Given the description of an element on the screen output the (x, y) to click on. 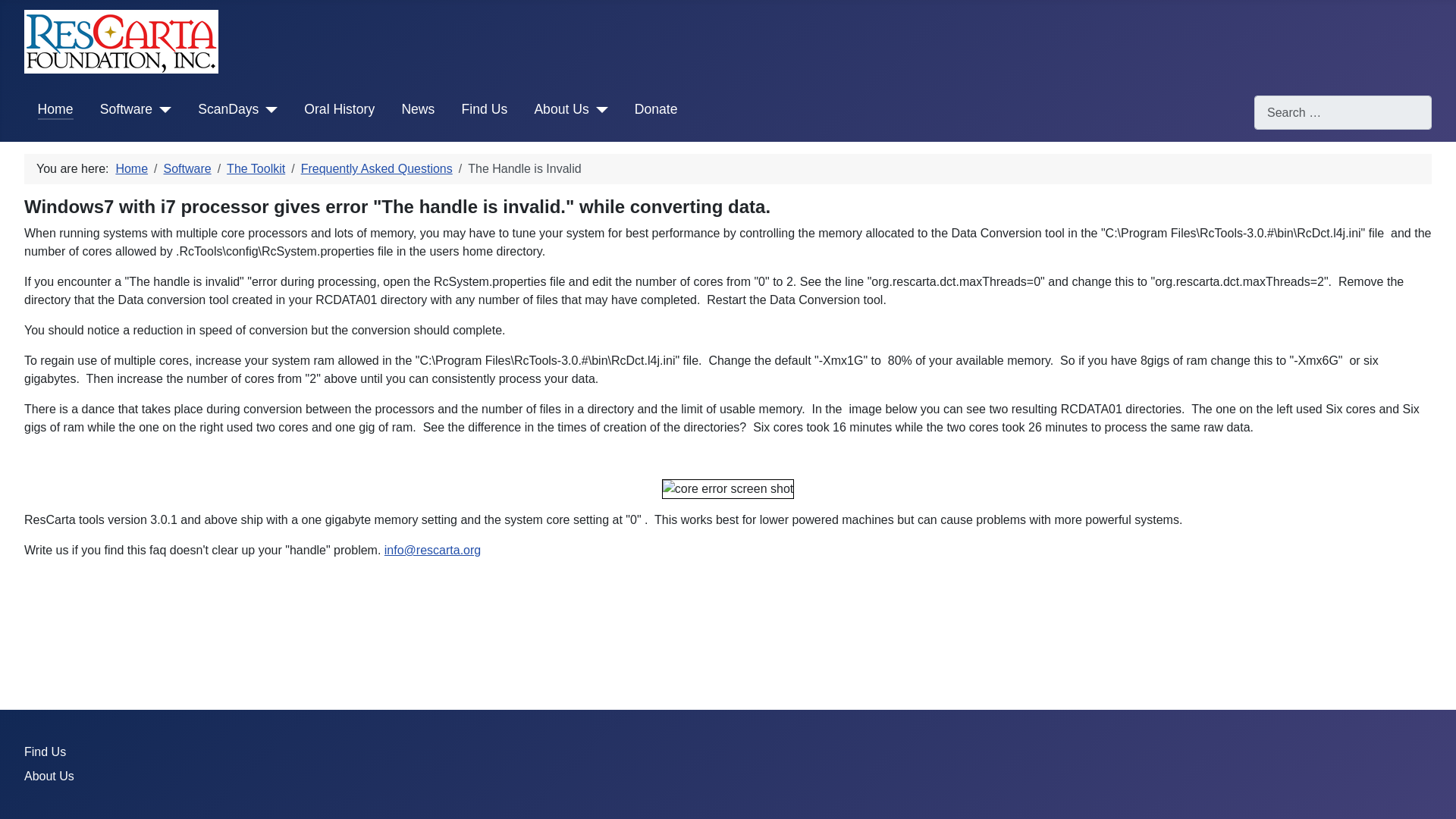
Software (126, 108)
Home (131, 168)
News (417, 108)
About Us (561, 108)
ScanDays (228, 108)
Oral History (339, 108)
Software (187, 168)
Home (55, 108)
mail info at rescarta (432, 549)
Find Us (484, 108)
Donate (656, 108)
